Given the description of an element on the screen output the (x, y) to click on. 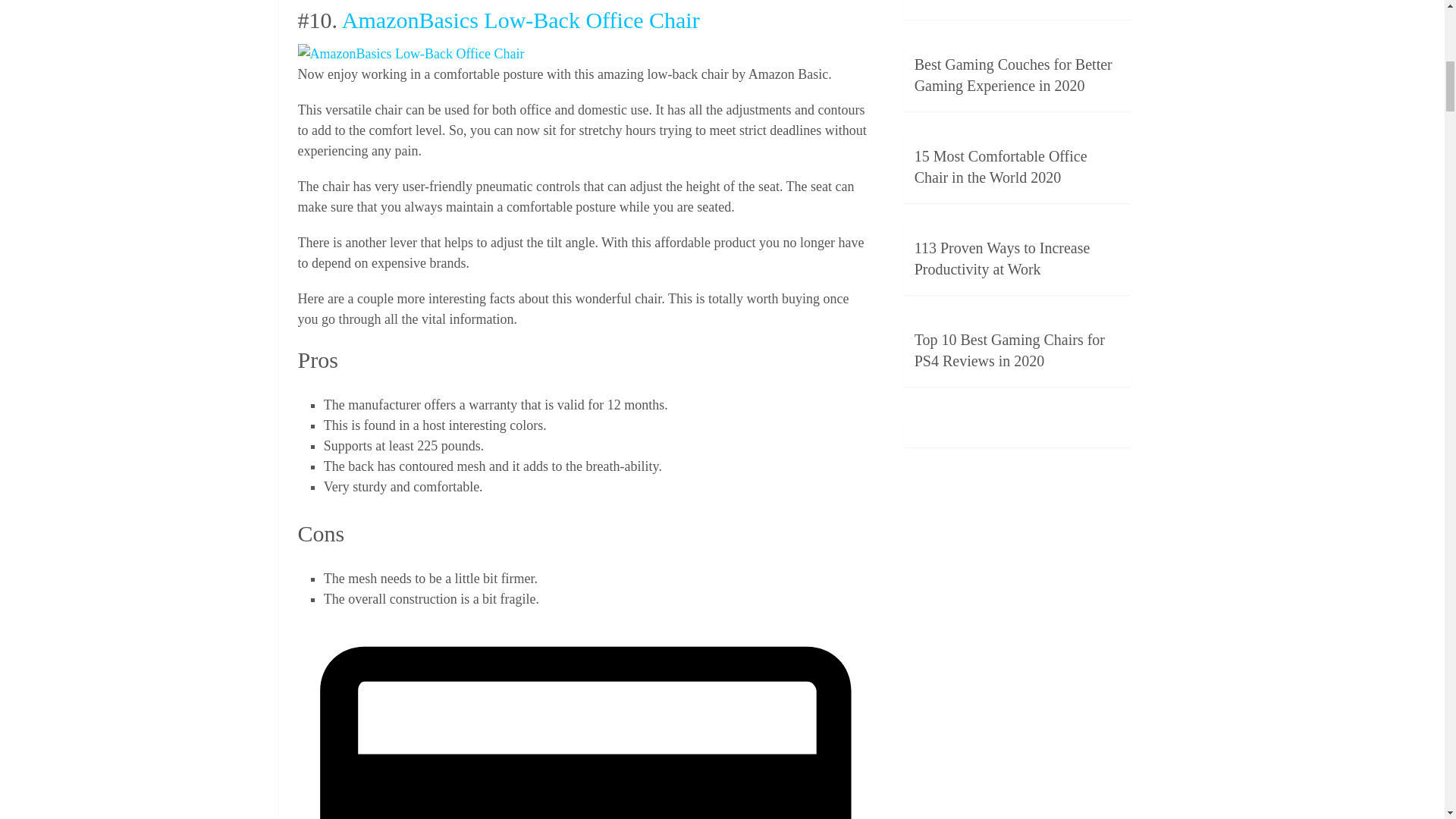
AmazonBasics Low-Back Office Chair (410, 54)
